Given the description of an element on the screen output the (x, y) to click on. 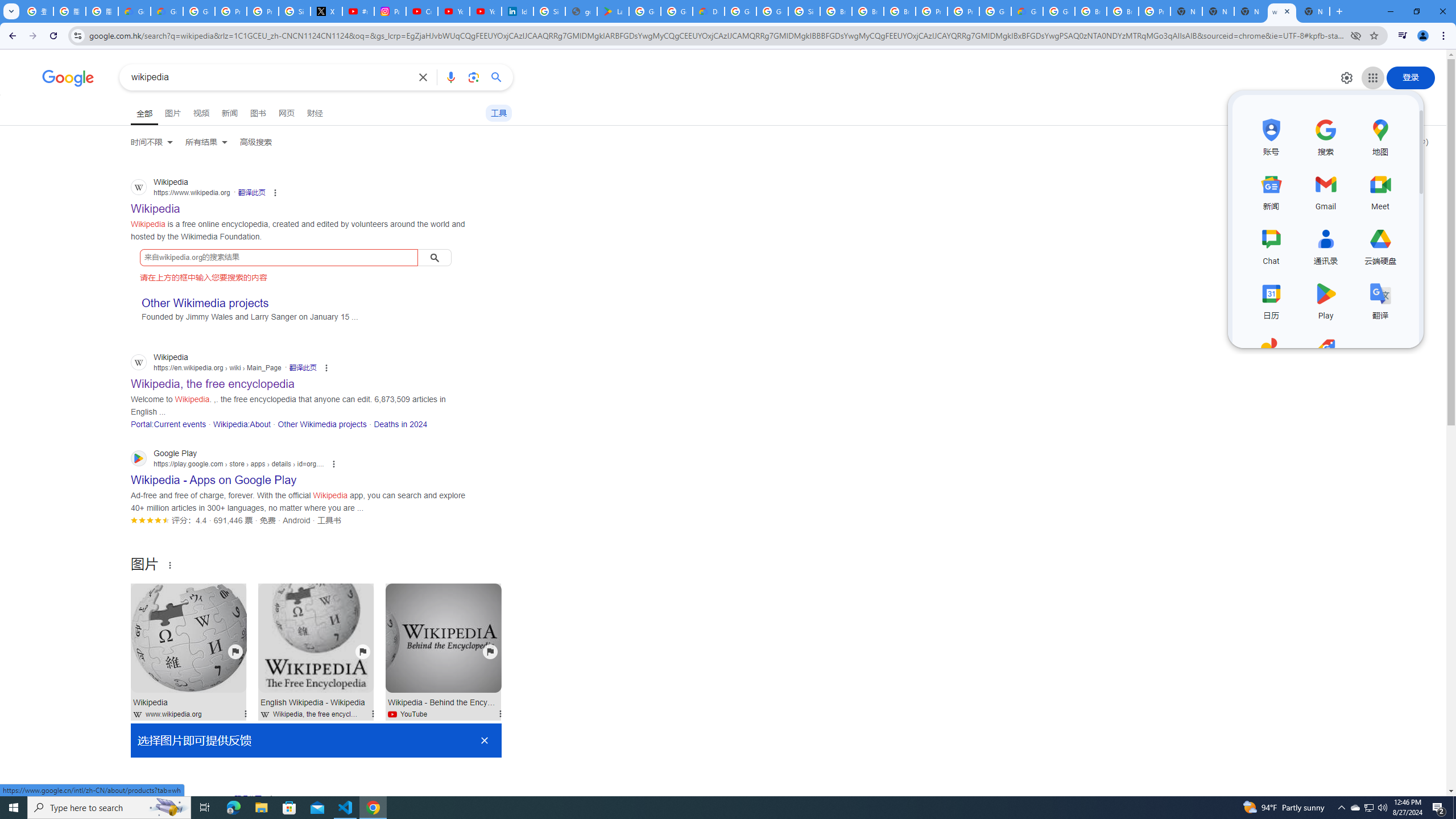
 Wikipedia Wikipedia https://www.wikipedia.org (155, 205)
Google Cloud Privacy Notice (134, 11)
Wikipedia:About (241, 424)
google_privacy_policy_en.pdf (581, 11)
Browse Chrome as a guest - Computer - Google Chrome Help (836, 11)
